Given the description of an element on the screen output the (x, y) to click on. 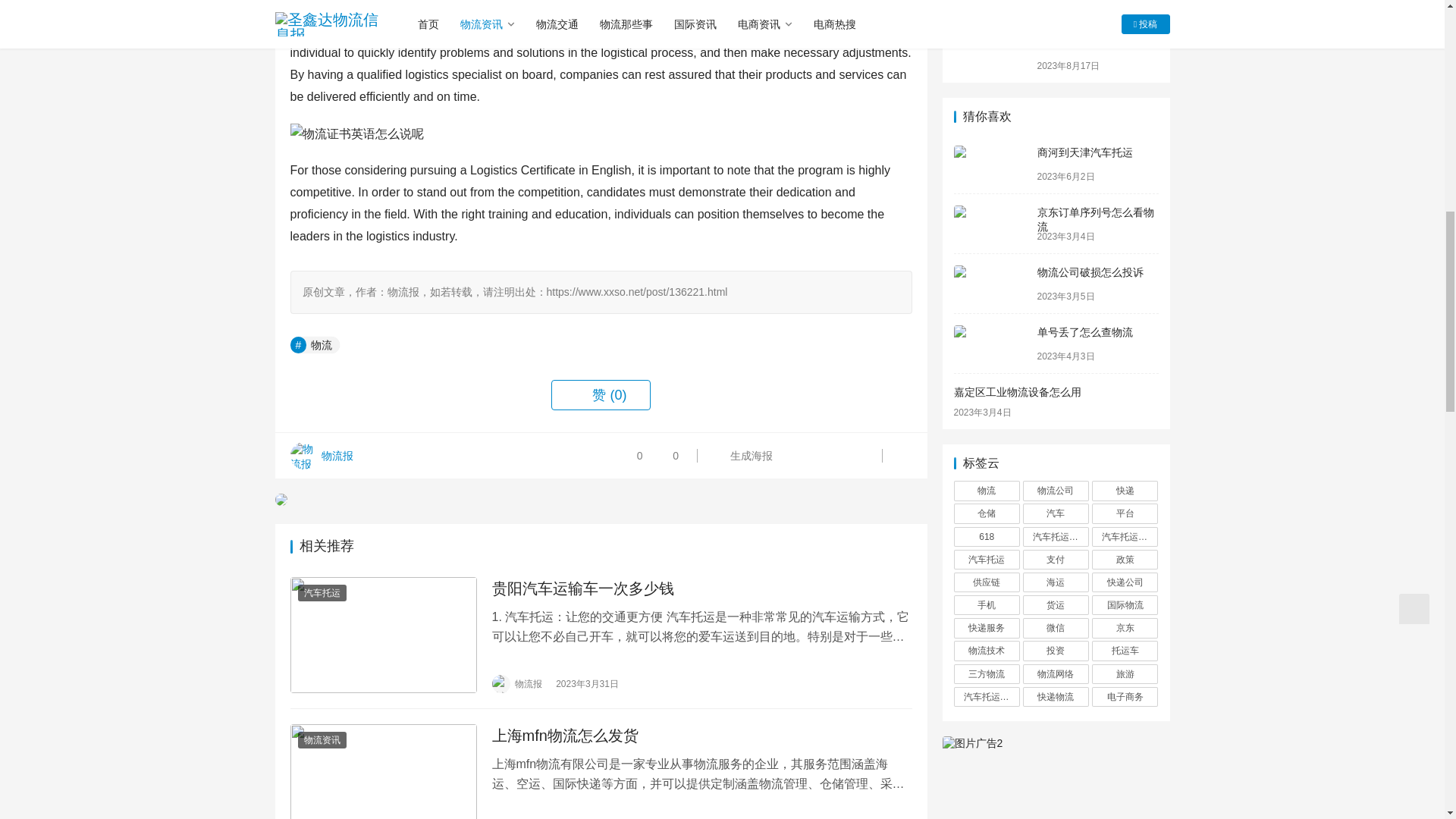
0 (635, 455)
0 (664, 455)
